Given the description of an element on the screen output the (x, y) to click on. 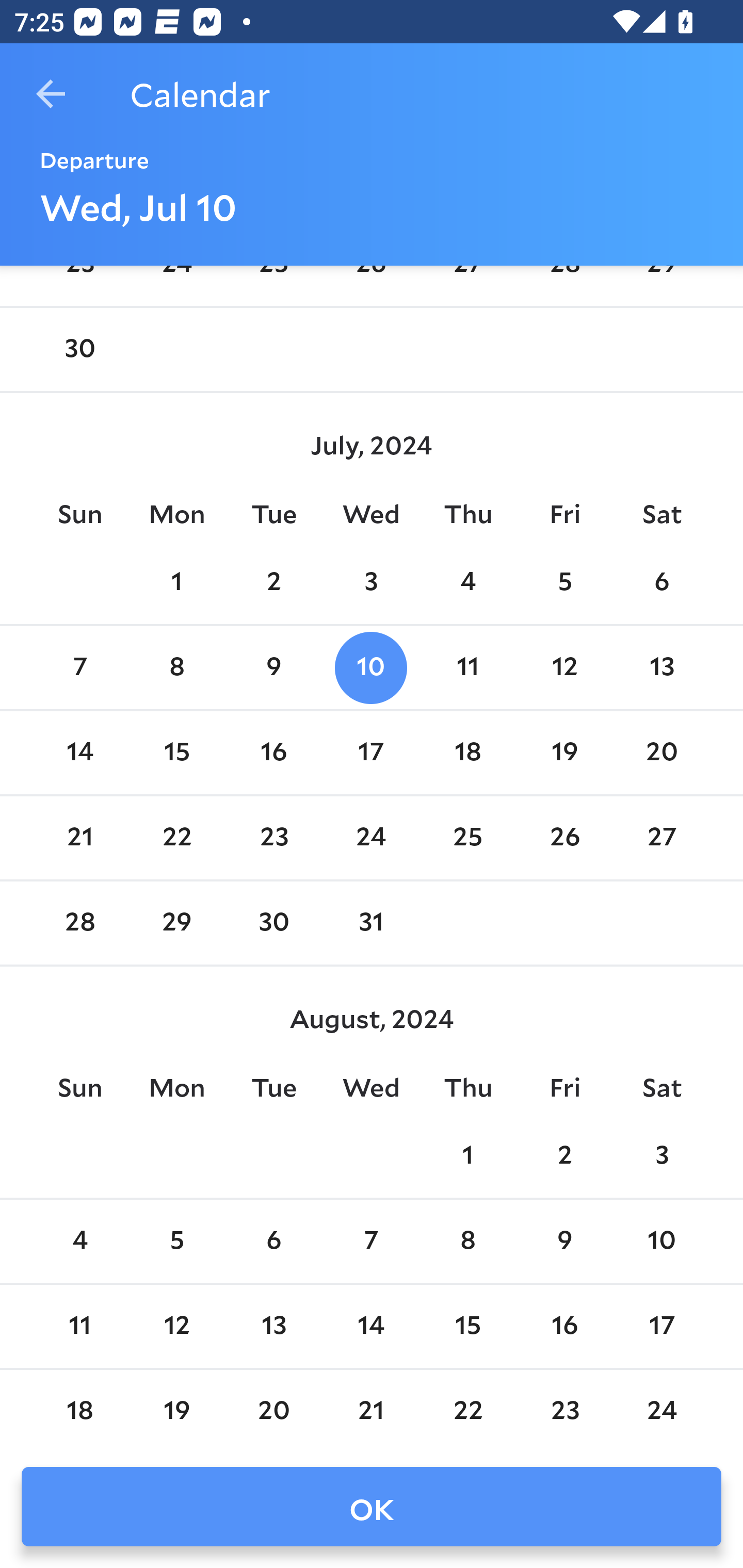
Navigate up (50, 93)
30 (79, 349)
1 (177, 583)
2 (273, 583)
3 (371, 583)
4 (467, 583)
5 (565, 583)
6 (661, 583)
7 (79, 667)
8 (177, 667)
9 (273, 667)
10 (371, 667)
11 (467, 667)
12 (565, 667)
13 (661, 667)
14 (79, 752)
15 (177, 752)
16 (273, 752)
17 (371, 752)
18 (467, 752)
19 (565, 752)
20 (661, 752)
21 (79, 838)
22 (177, 838)
23 (273, 838)
24 (371, 838)
25 (467, 838)
26 (565, 838)
27 (661, 838)
28 (79, 923)
29 (177, 923)
30 (273, 923)
31 (371, 923)
1 (467, 1156)
2 (565, 1156)
3 (661, 1156)
4 (79, 1241)
5 (177, 1241)
6 (273, 1241)
7 (371, 1241)
8 (467, 1241)
9 (565, 1241)
10 (661, 1241)
11 (79, 1326)
12 (177, 1326)
13 (273, 1326)
14 (371, 1326)
15 (467, 1326)
16 (565, 1326)
17 (661, 1326)
